Given the description of an element on the screen output the (x, y) to click on. 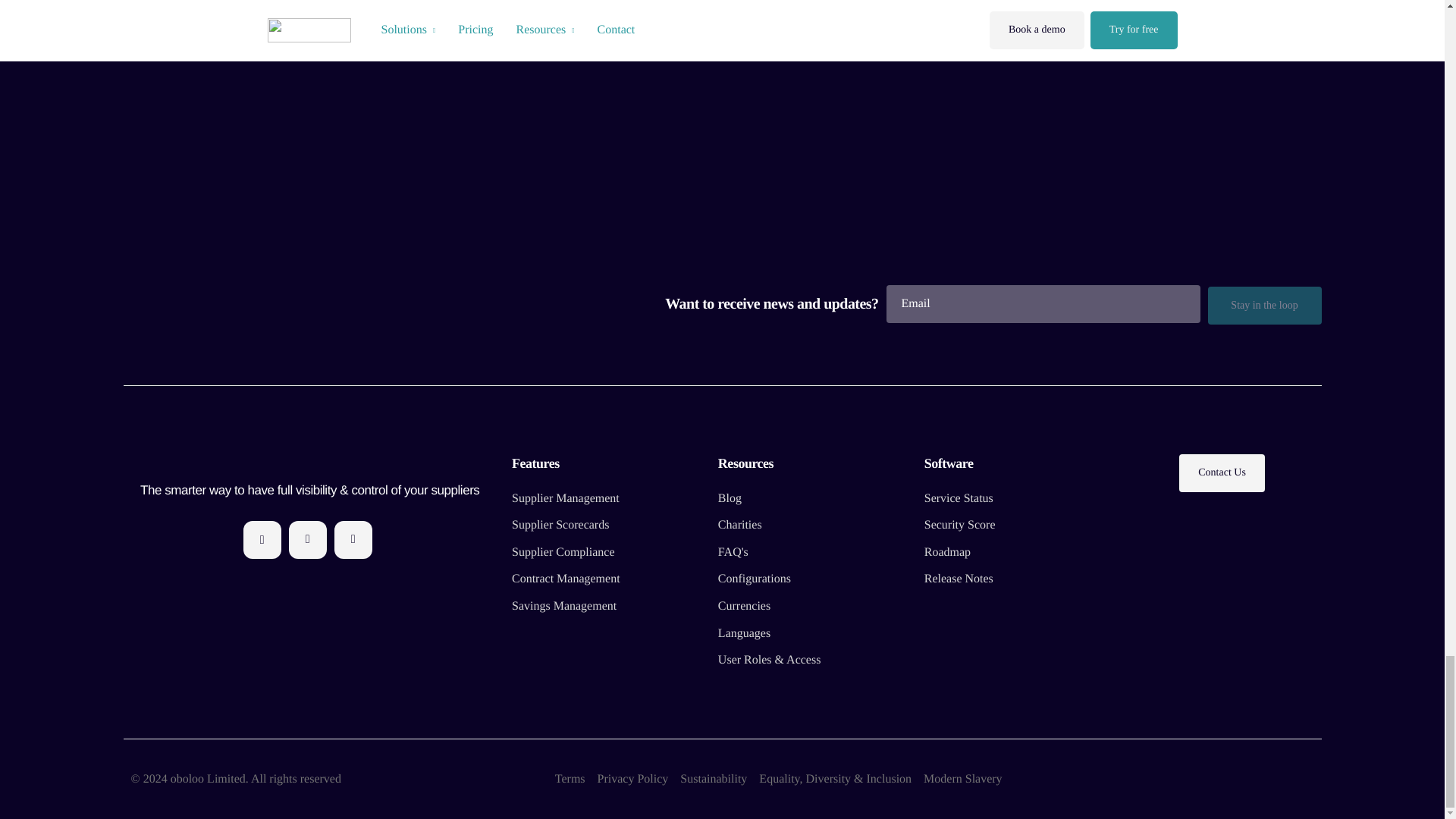
Stay in the loop (1263, 305)
